Given the description of an element on the screen output the (x, y) to click on. 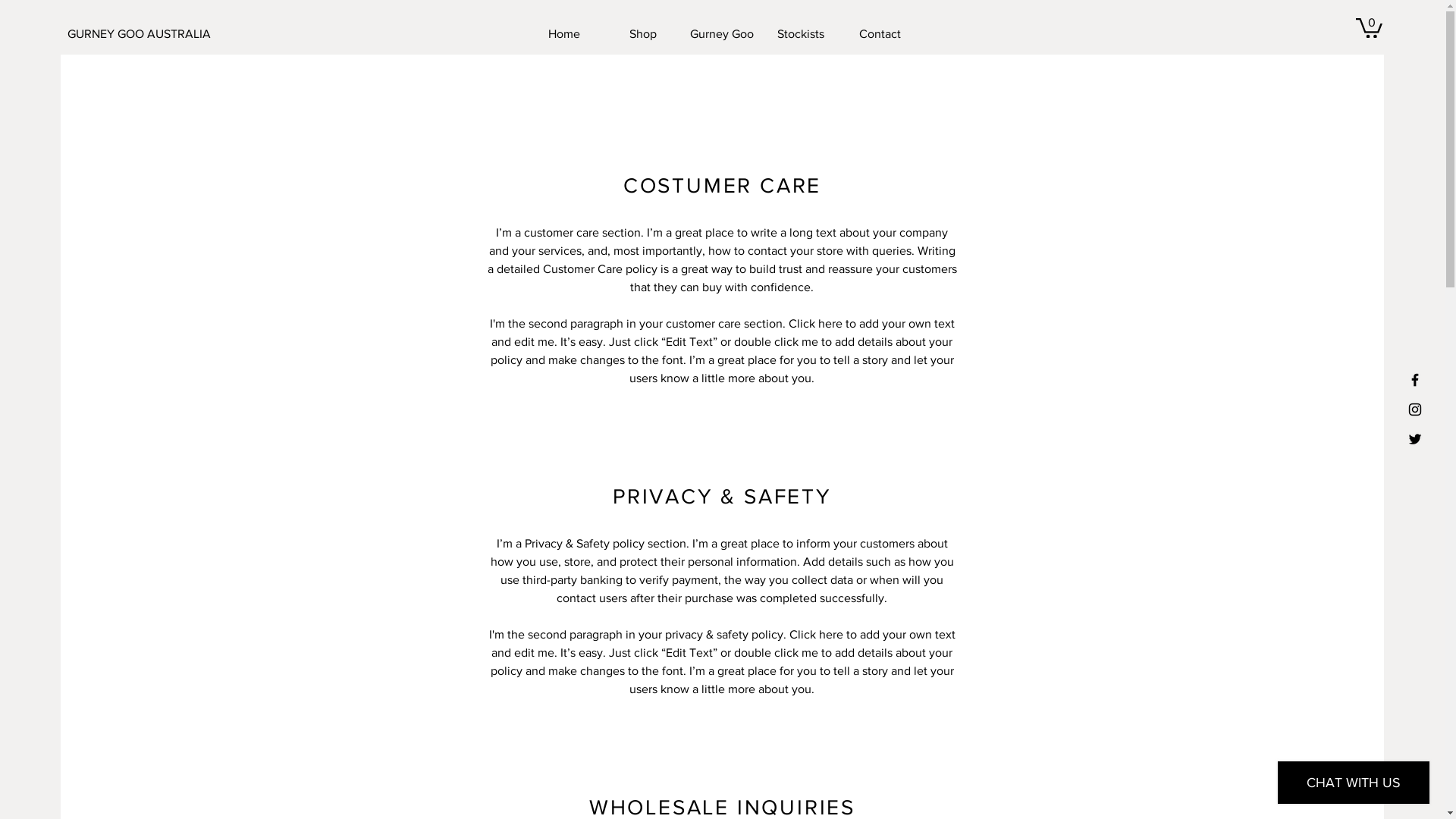
0 Element type: text (1368, 26)
Shop Element type: text (642, 34)
Contact Element type: text (879, 34)
Stockists Element type: text (800, 34)
Gurney Goo Element type: text (721, 34)
GURNEY GOO AUSTRALIA Element type: text (135, 33)
Home Element type: text (563, 34)
